Given the description of an element on the screen output the (x, y) to click on. 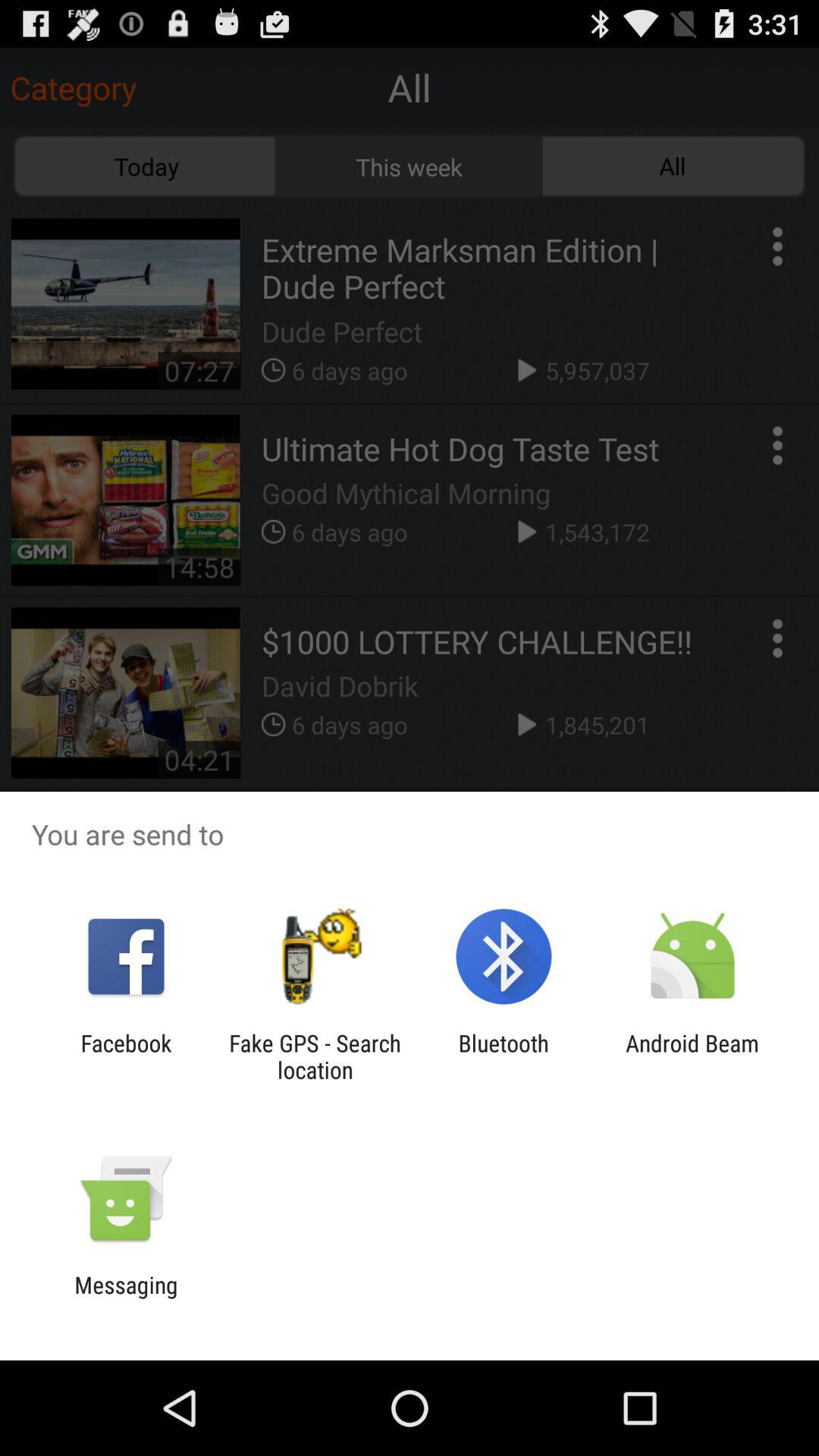
jump to the messaging icon (126, 1298)
